Given the description of an element on the screen output the (x, y) to click on. 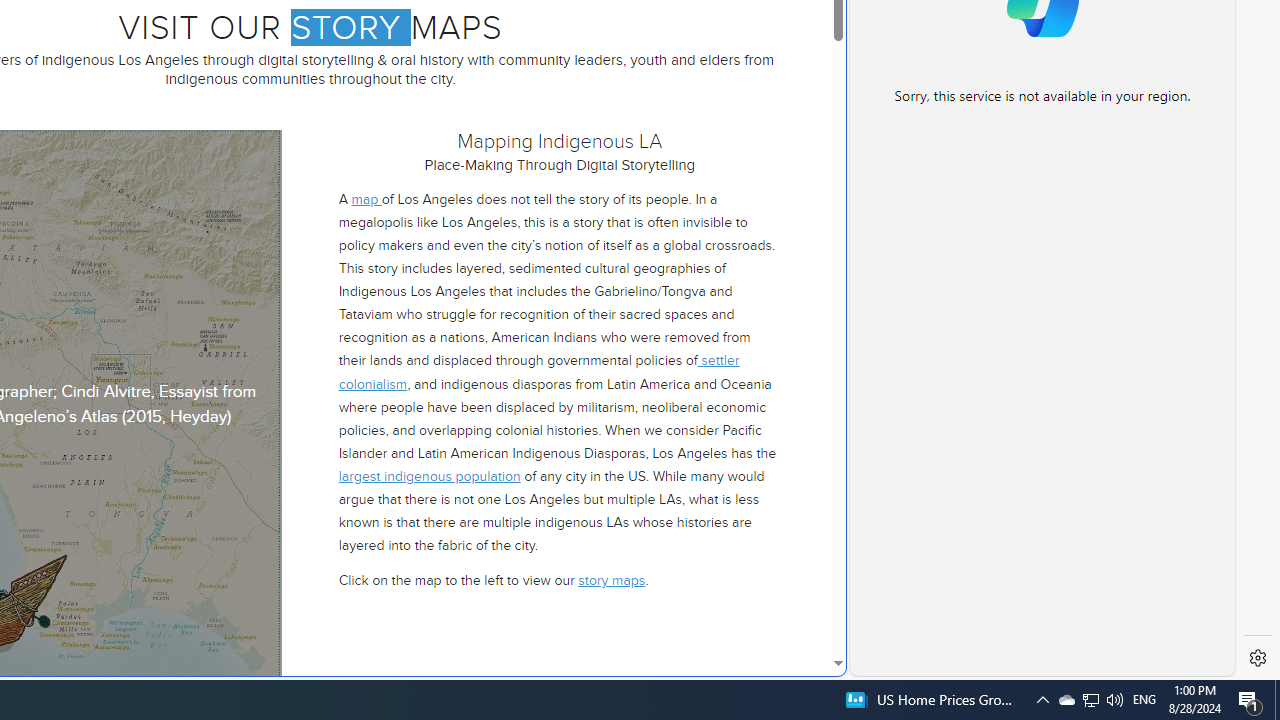
largest indigenous population (428, 388)
map  (365, 110)
story maps (612, 491)
 settler colonialism (538, 283)
Settings (1258, 658)
